Given the description of an element on the screen output the (x, y) to click on. 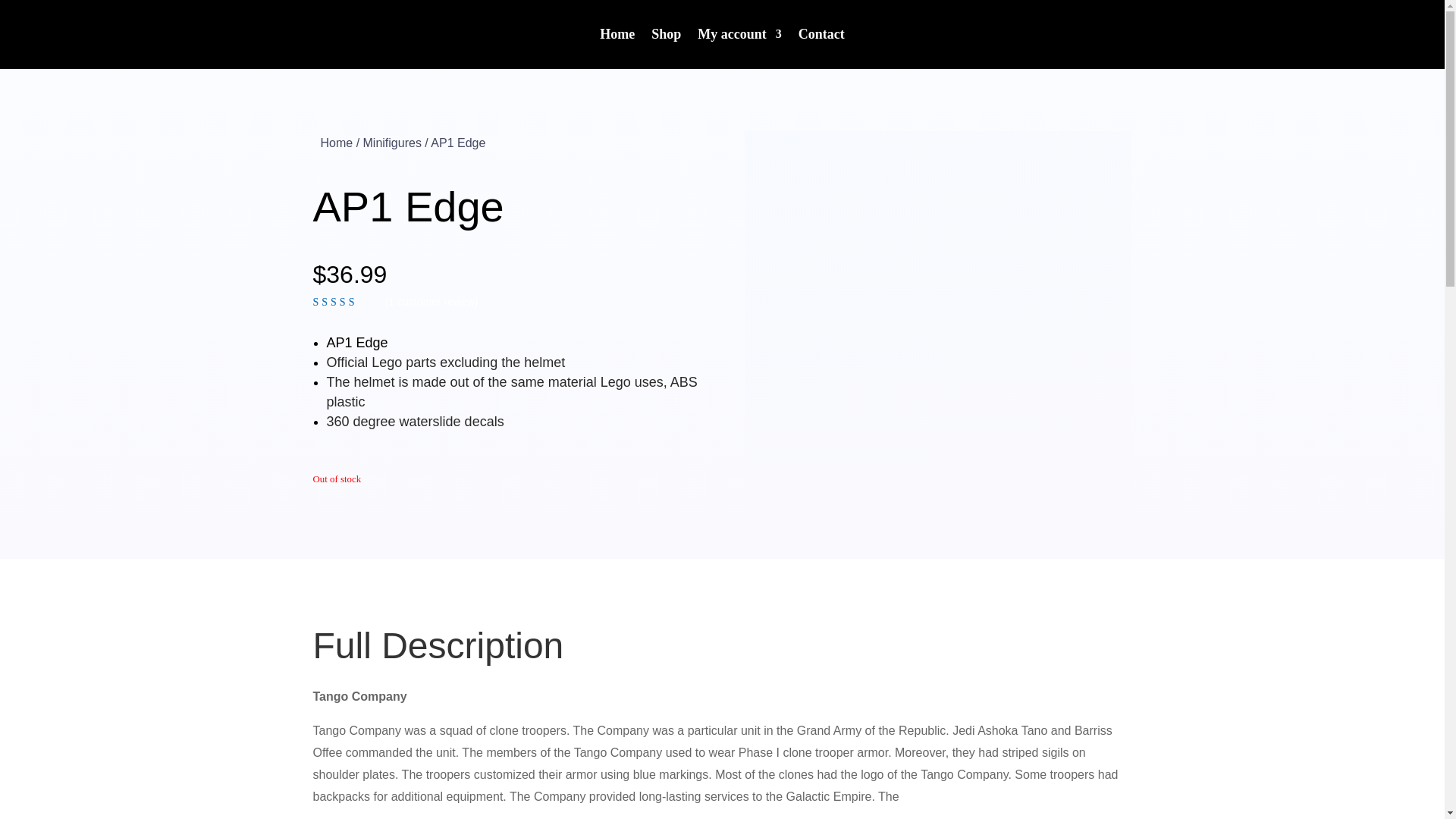
Home (616, 36)
My account (738, 36)
Shop (665, 36)
Contact (820, 36)
Home (336, 142)
Minifigures (392, 142)
